Given the description of an element on the screen output the (x, y) to click on. 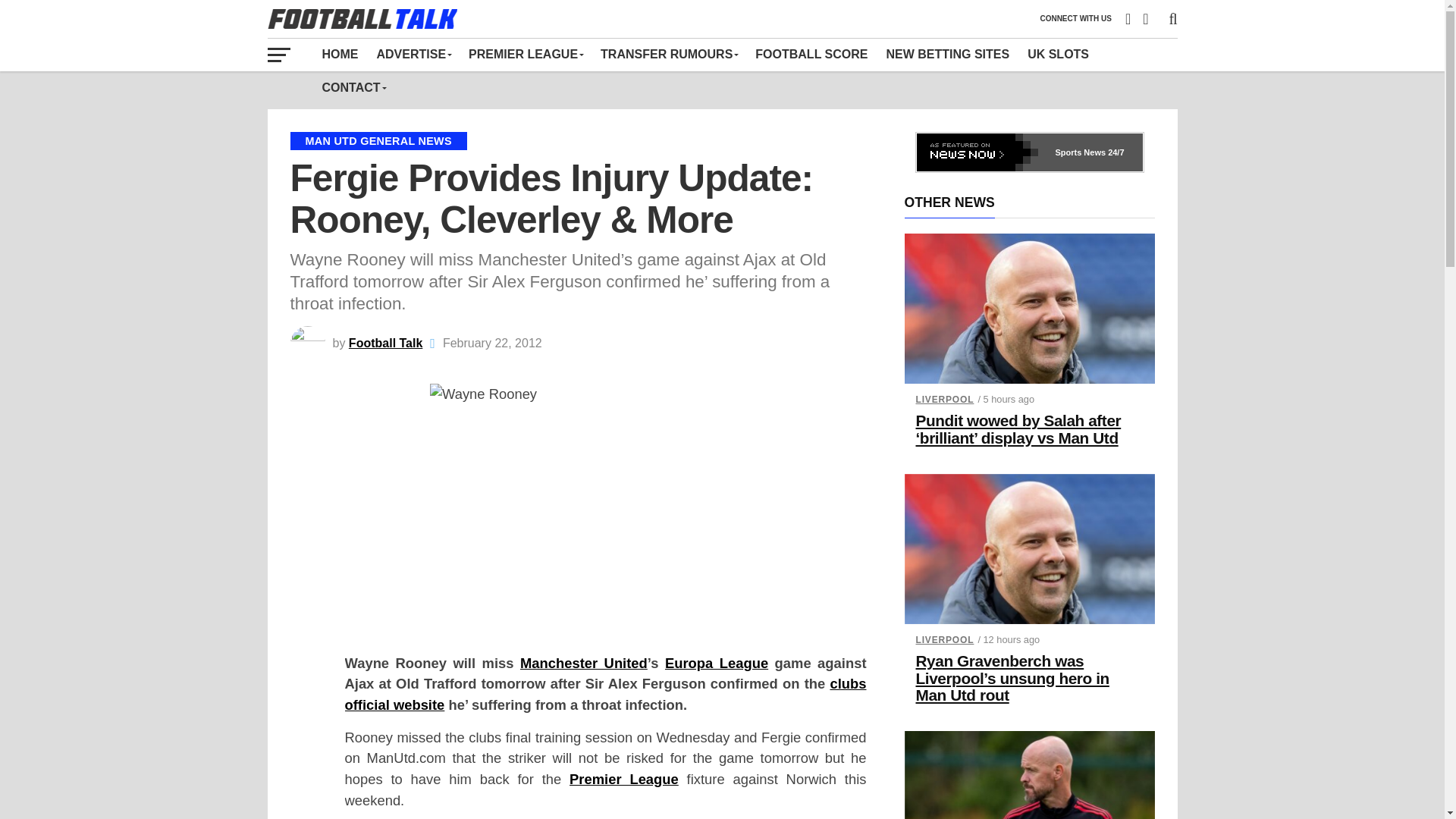
Premier League News (525, 54)
PREMIER LEAGUE (525, 54)
HOME (339, 54)
ADVERTISE (413, 54)
Advertise on Football-Talk (413, 54)
